Given the description of an element on the screen output the (x, y) to click on. 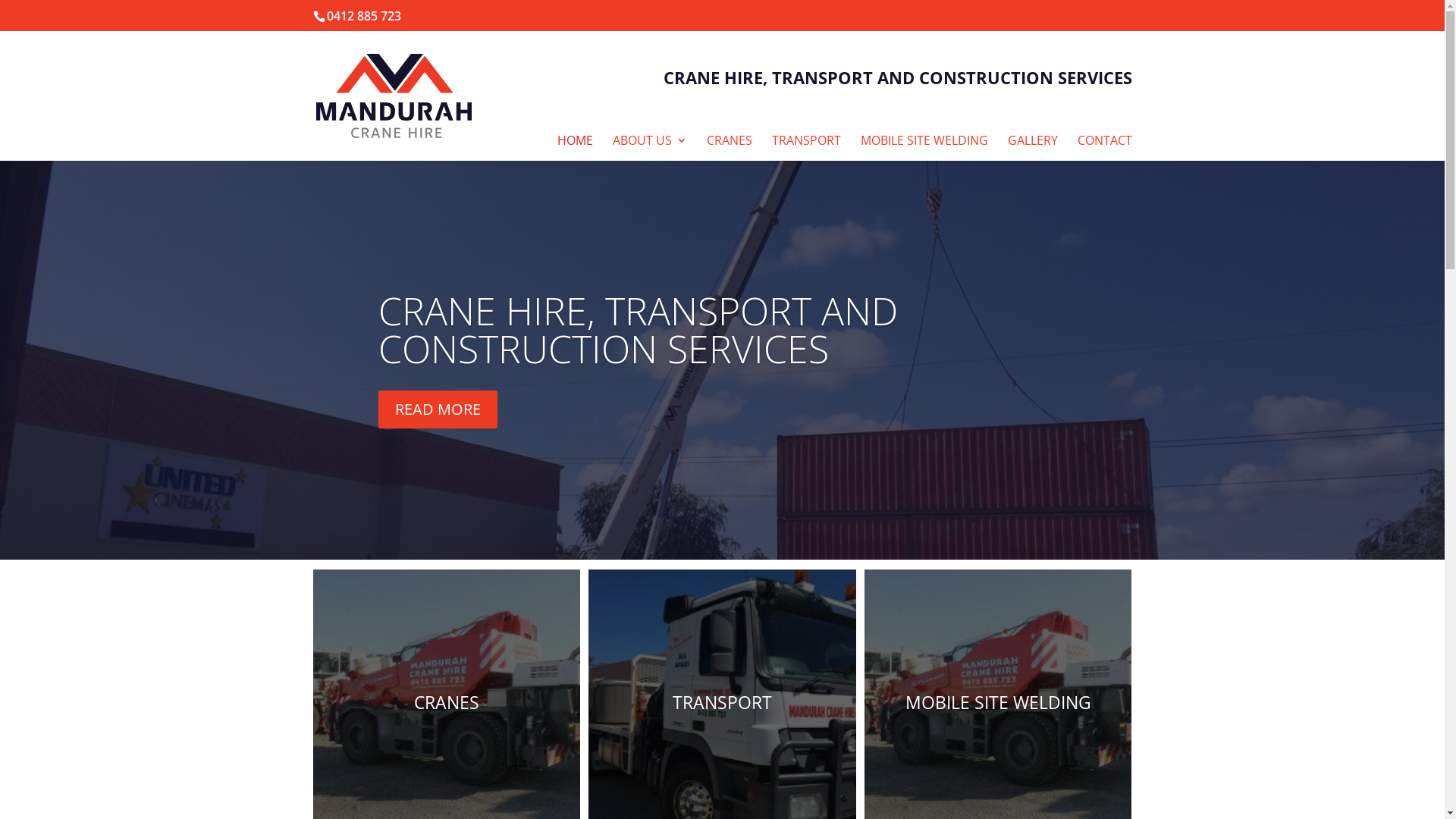
CRANES Element type: text (446, 702)
HOME Element type: text (574, 147)
MOBILE SITE WELDING Element type: text (923, 147)
READ MORE Element type: text (437, 409)
CRANES Element type: text (729, 147)
CRANE HIRE, TRANSPORT AND CONSTRUCTION SERVICES Element type: text (637, 329)
MOBILE SITE WELDING Element type: text (998, 702)
TRANSPORT Element type: text (721, 702)
ABOUT US Element type: text (649, 147)
CONTACT Element type: text (1103, 147)
TRANSPORT Element type: text (805, 147)
GALLERY Element type: text (1032, 147)
